Given the description of an element on the screen output the (x, y) to click on. 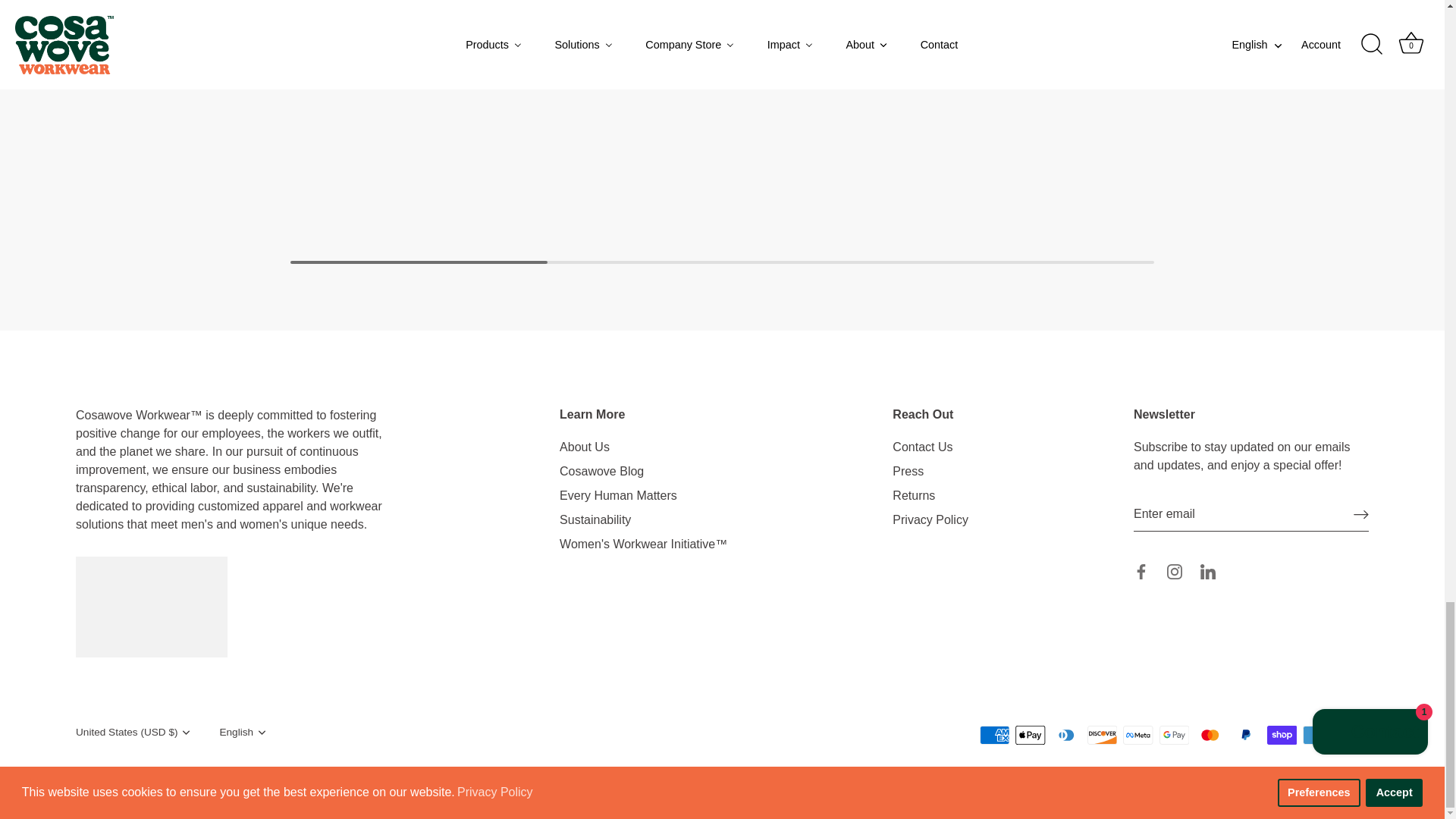
PayPal (1245, 734)
Instagram (1174, 571)
Meta Pay (1137, 734)
Shop Pay (1281, 734)
Google Pay (1173, 734)
American Express (994, 734)
Diners Club (1066, 734)
Apple Pay (1029, 734)
Right arrow long (1361, 514)
Discover (1101, 734)
Mastercard (1209, 734)
